Given the description of an element on the screen output the (x, y) to click on. 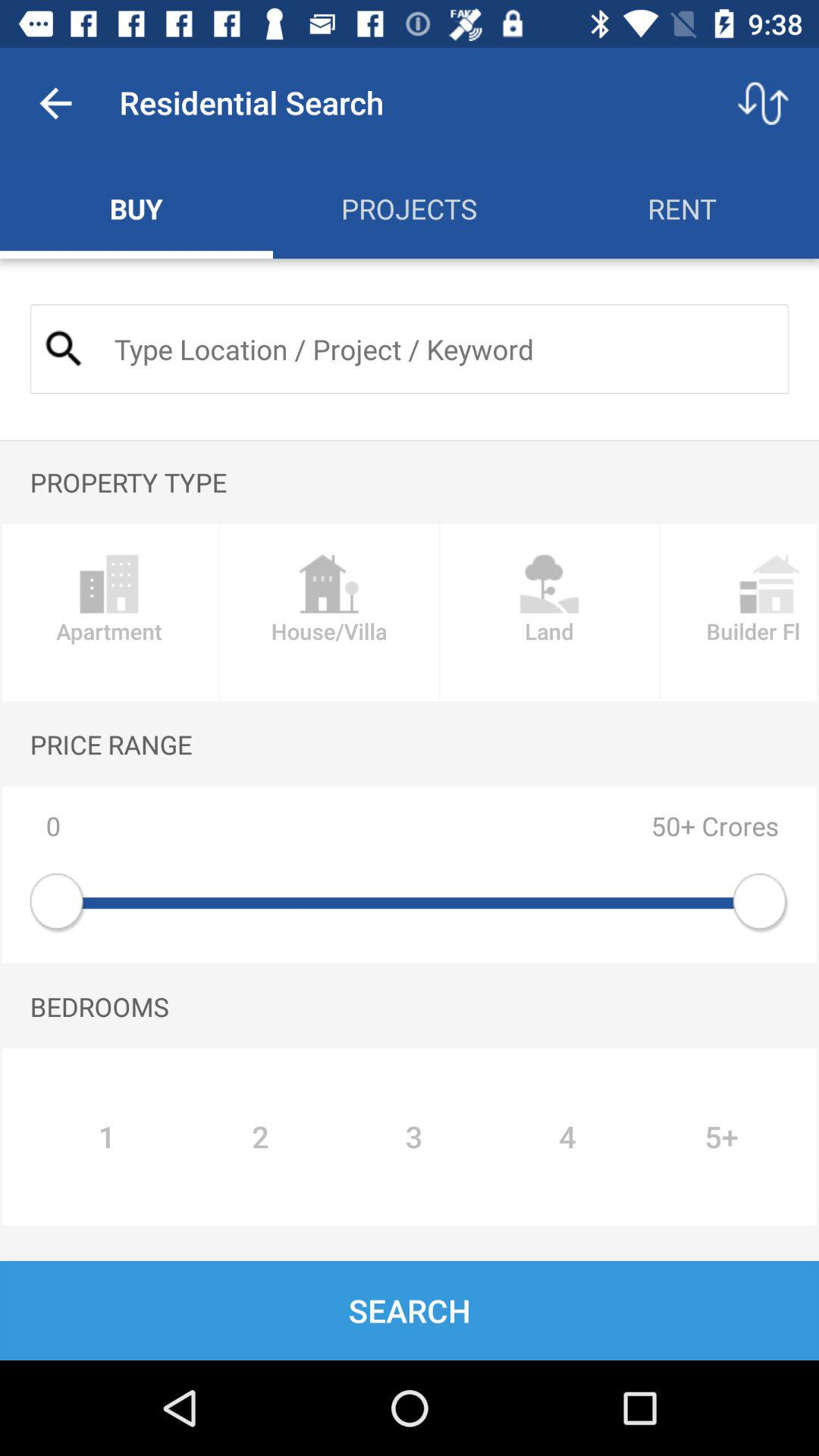
click icon below the property type item (549, 612)
